Given the description of an element on the screen output the (x, y) to click on. 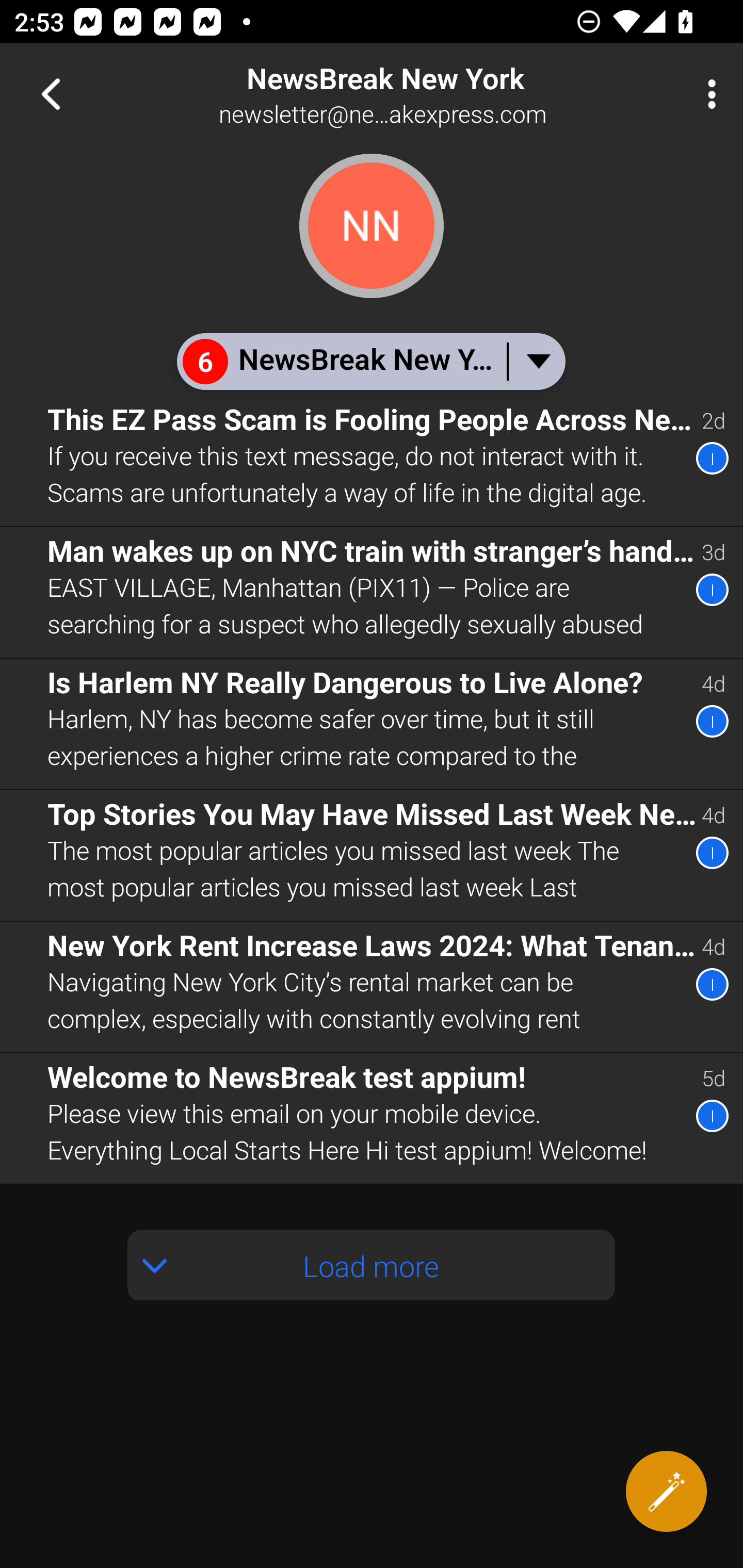
Navigate up (50, 93)
NewsBreak New York newsletter@newsbreakexpress.com (436, 93)
More Options (706, 93)
6 NewsBreak New York & You (370, 361)
Load more (371, 1264)
